Given the description of an element on the screen output the (x, y) to click on. 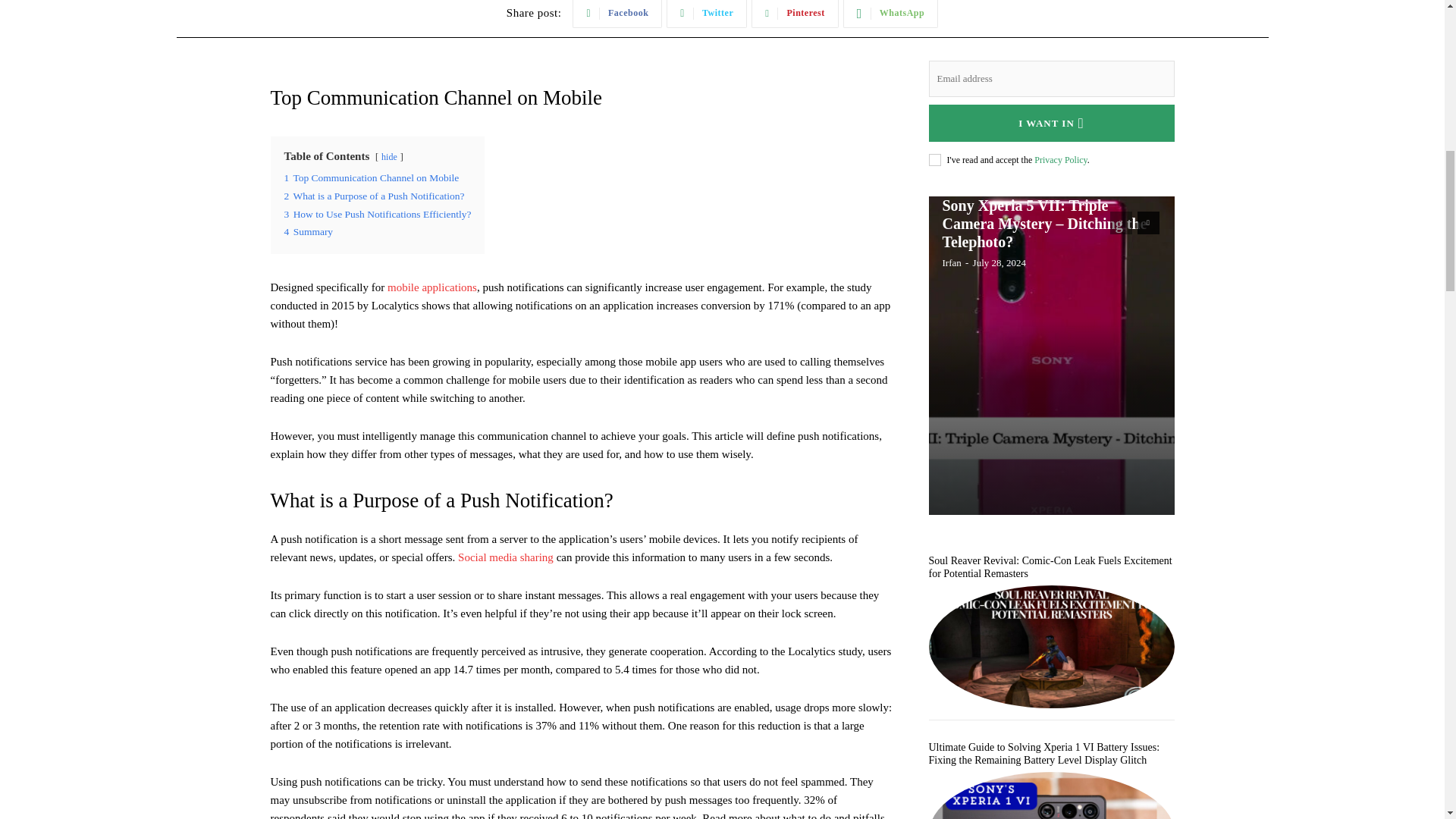
Twitter (706, 13)
WhatsApp (890, 13)
Facebook (617, 13)
Pinterest (794, 13)
